Given the description of an element on the screen output the (x, y) to click on. 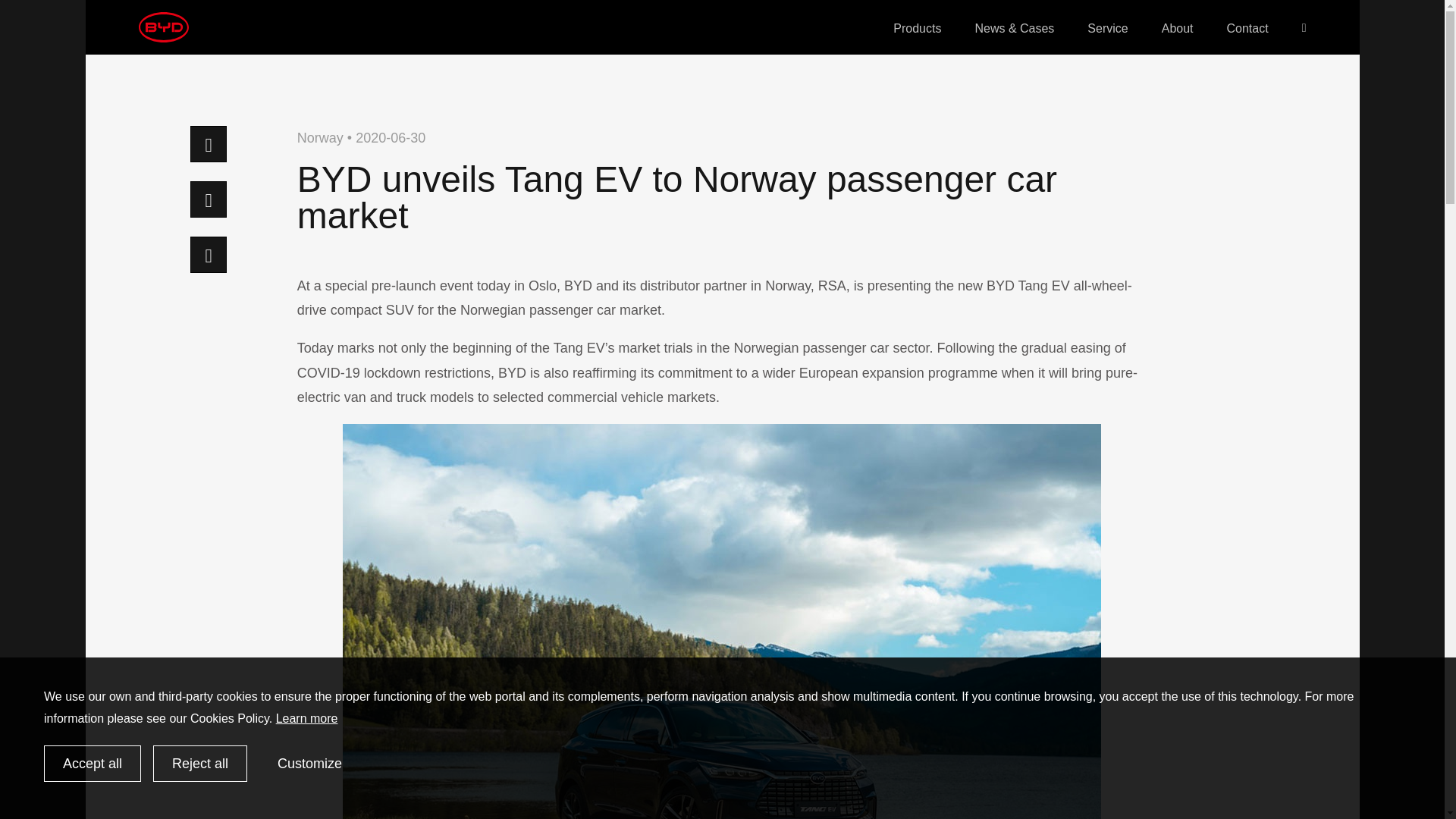
Learn more (306, 717)
